Given the description of an element on the screen output the (x, y) to click on. 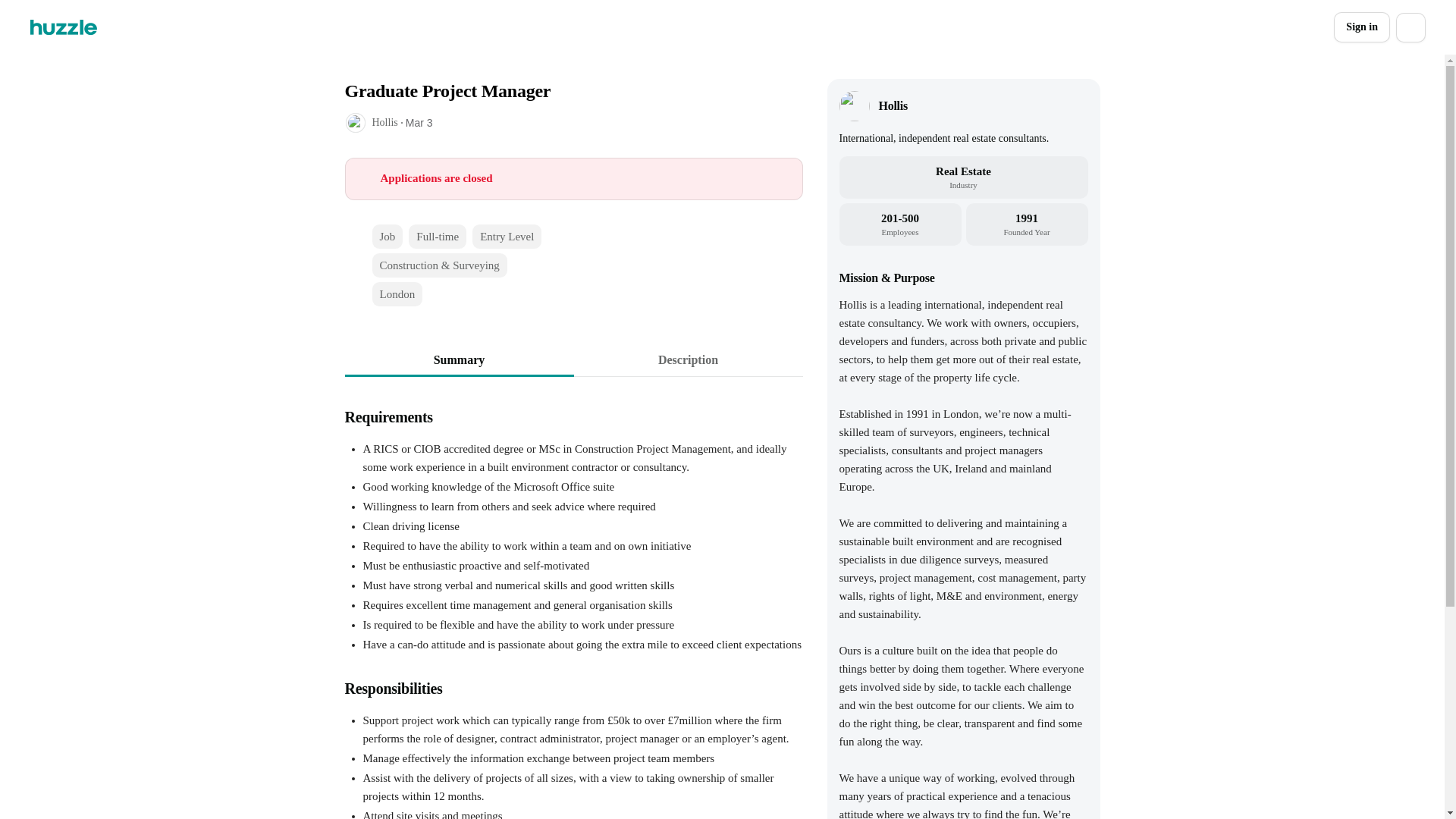
Sign in (1361, 27)
Description (687, 359)
Hollis (384, 122)
Summary (458, 359)
Hollis (892, 105)
